Given the description of an element on the screen output the (x, y) to click on. 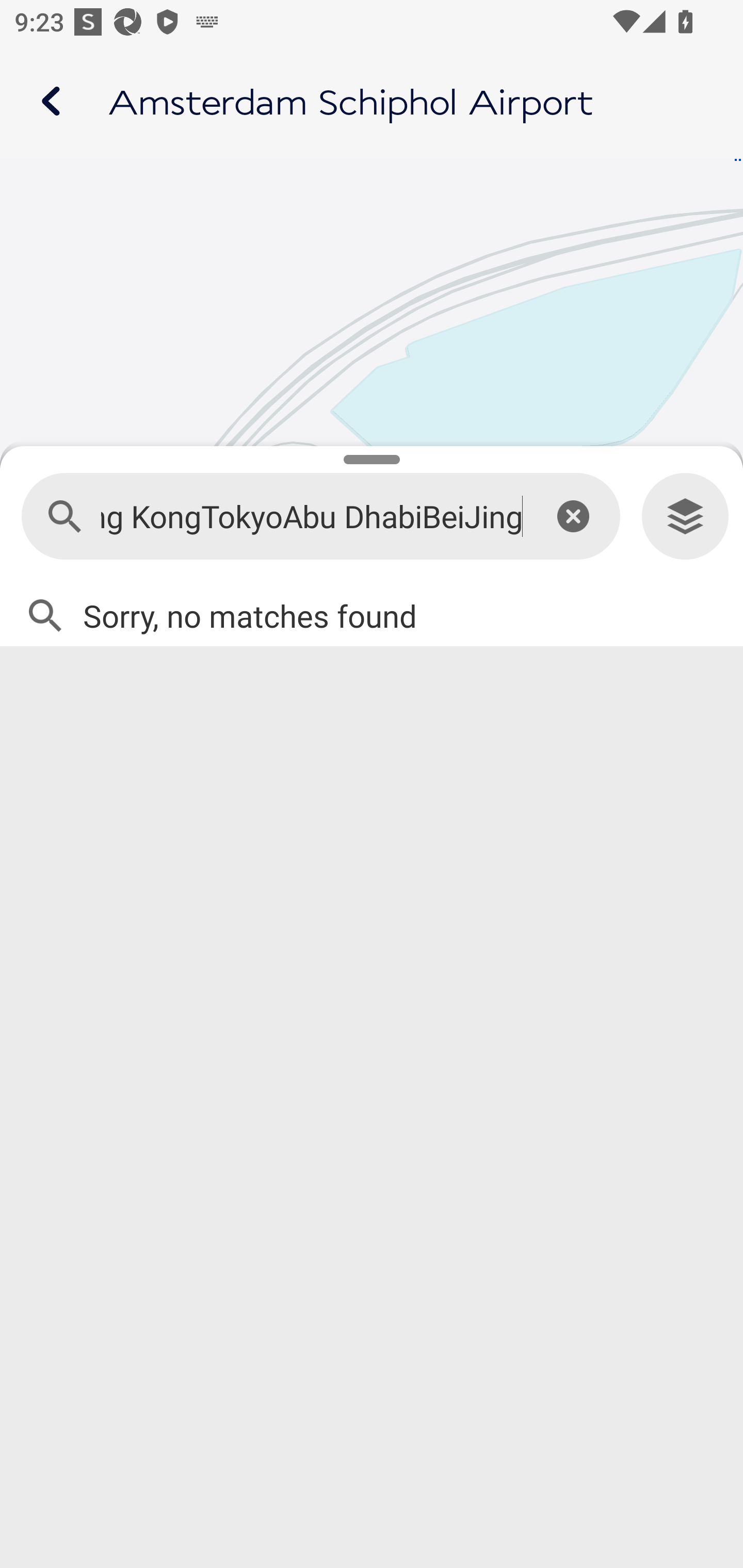
Airport map (371, 100)
MadridHong KongTokyoAbu DhabiBeiJing (311, 516)
Levels (684, 516)
This is an icon for clearing the text field. (573, 515)
